Given the description of an element on the screen output the (x, y) to click on. 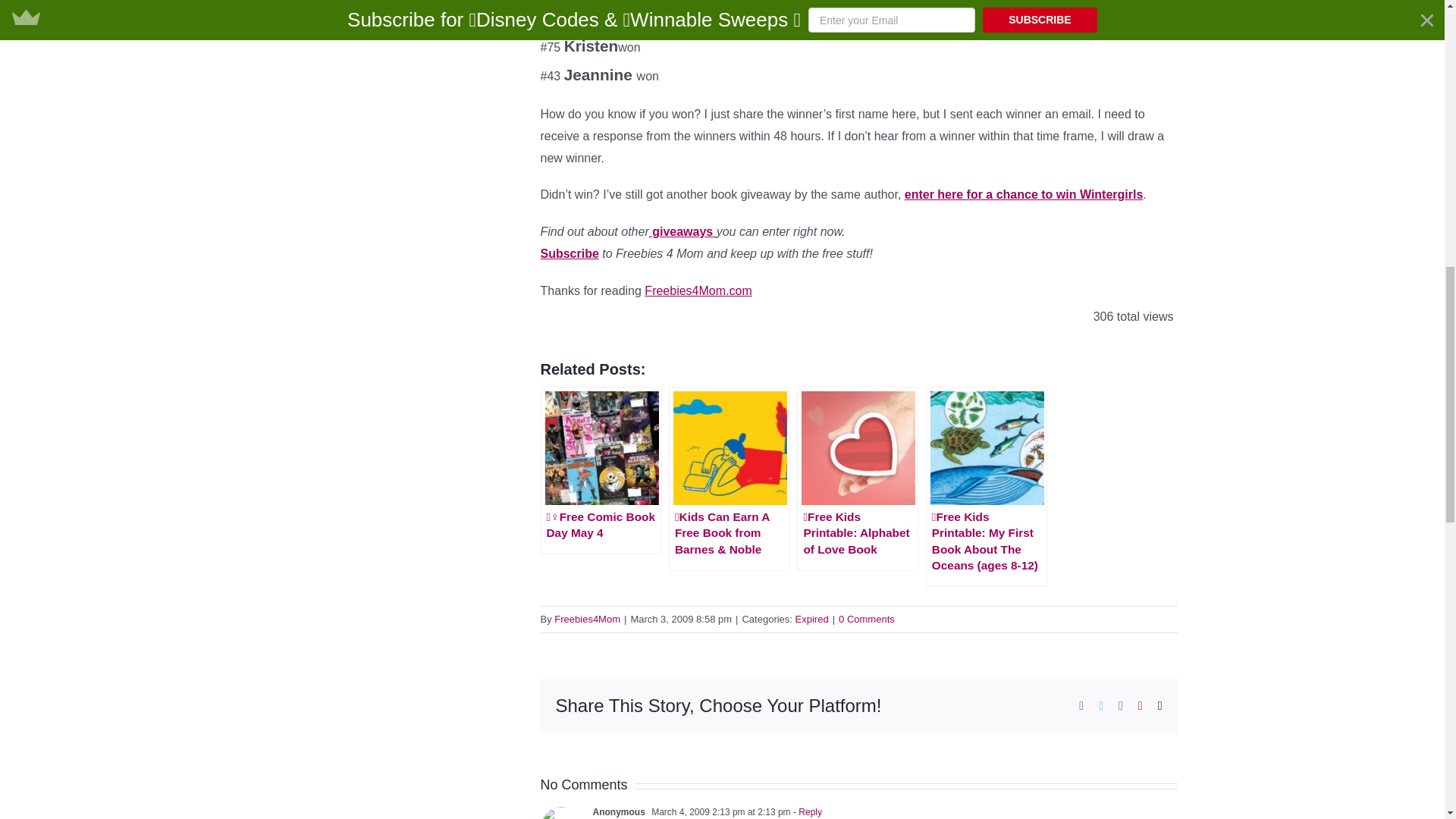
Posts by Freebies4Mom (587, 618)
